Given the description of an element on the screen output the (x, y) to click on. 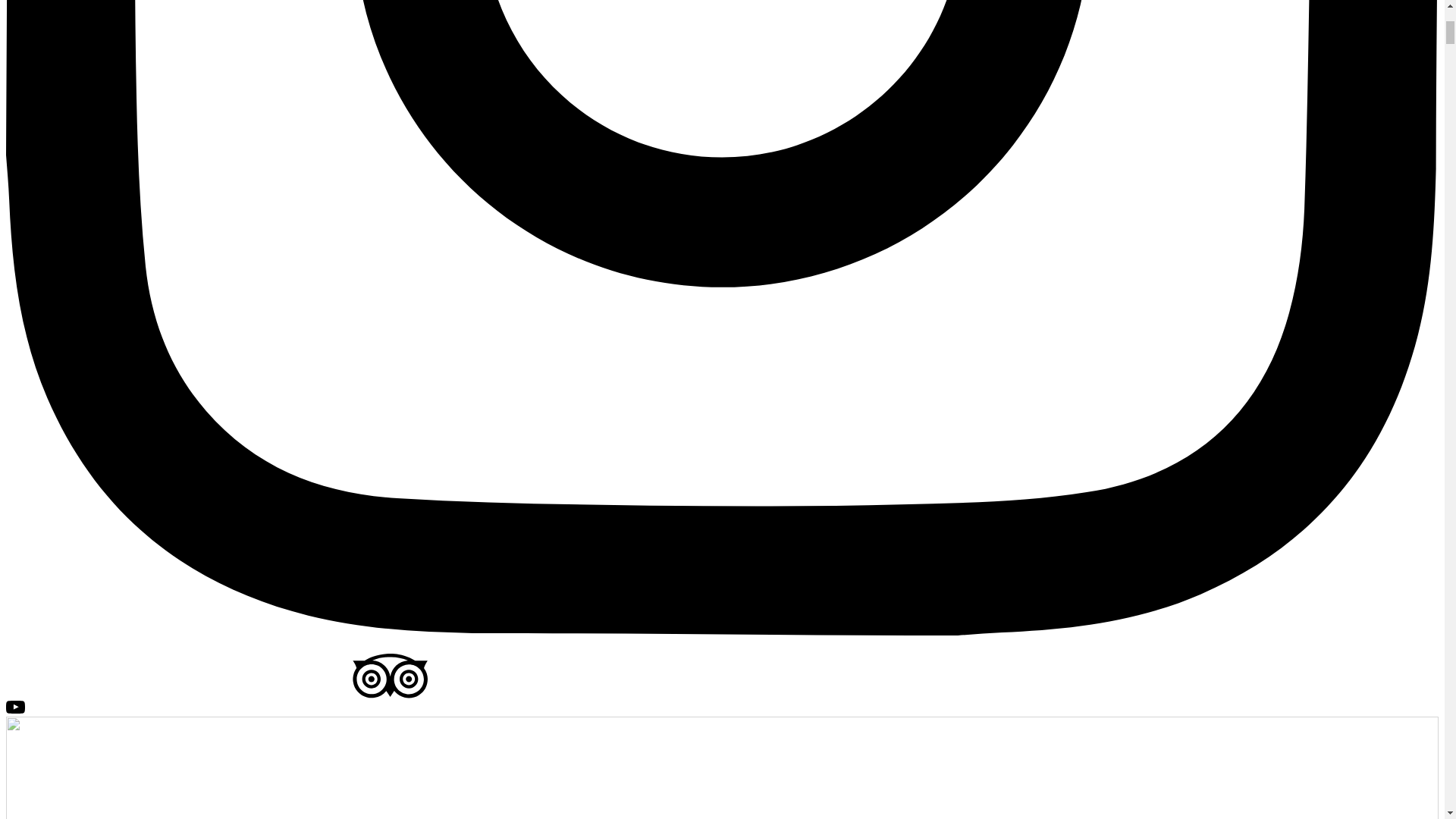
A link to this website's Youtube. (14, 708)
